Given the description of an element on the screen output the (x, y) to click on. 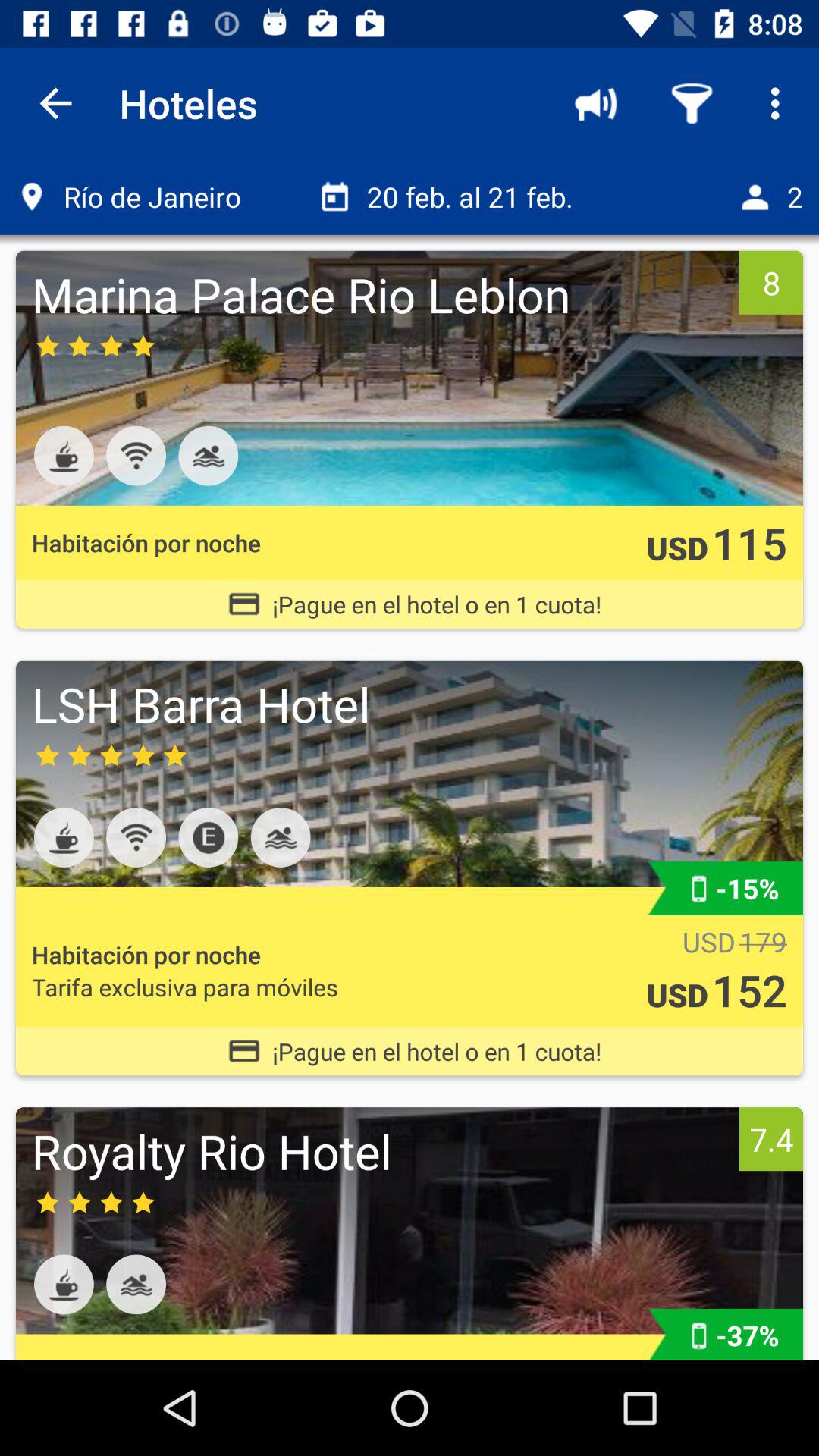
choose icon to the left of 7.4 item (381, 1151)
